Given the description of an element on the screen output the (x, y) to click on. 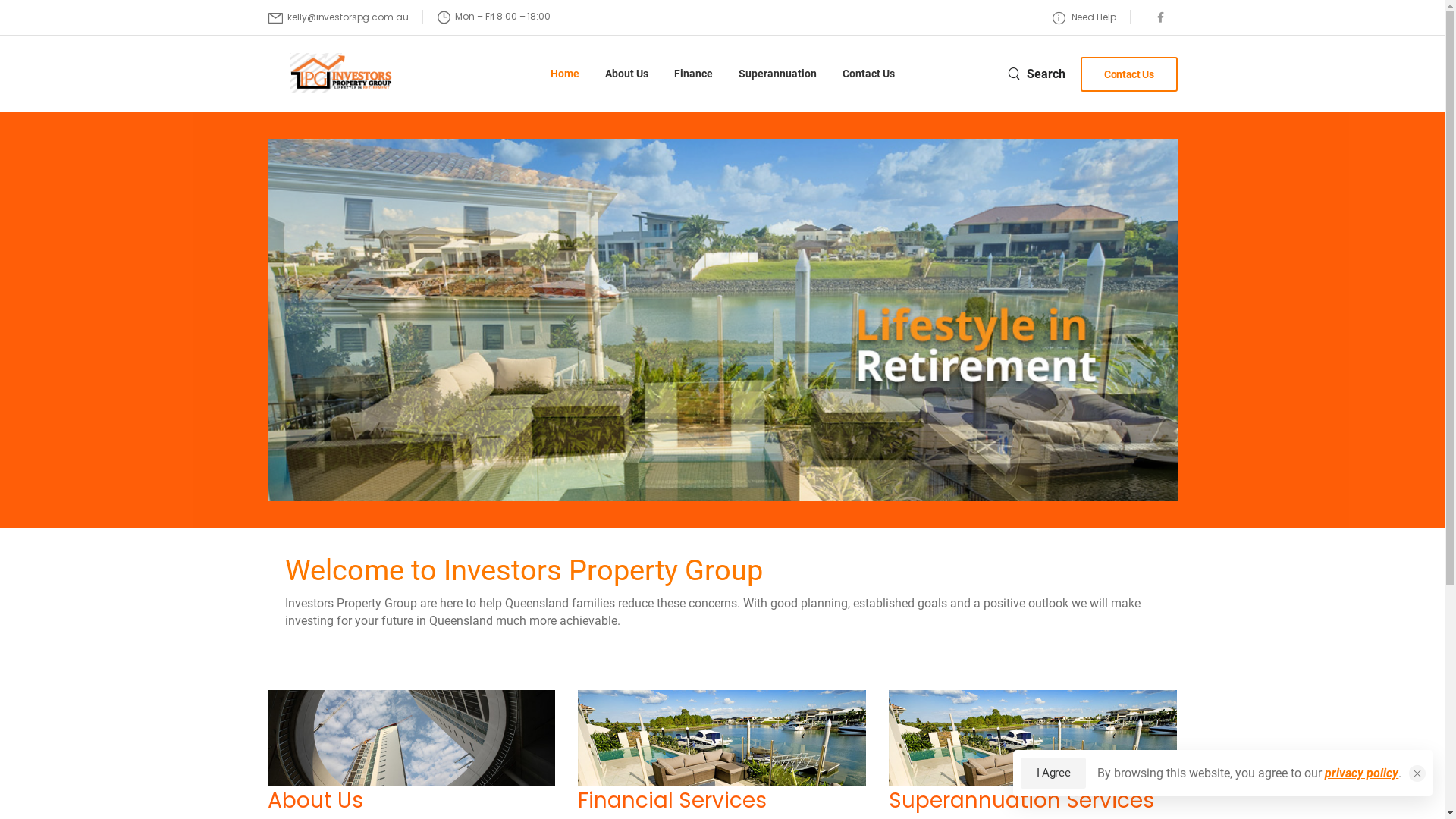
Financial Services Element type: text (671, 800)
Search Element type: text (1036, 73)
Contact Us Element type: text (1128, 73)
Need Help Element type: text (1084, 16)
kelly@investorspg.com.au Element type: text (338, 17)
About Us Element type: text (314, 800)
facebook Element type: hover (1160, 16)
I Agree Element type: text (1052, 772)
Superannuation Services Element type: text (1021, 800)
About Us Element type: text (626, 73)
privacy policy Element type: text (1361, 772)
Finance Element type: text (692, 73)
Home Element type: text (564, 73)
Superannuation Element type: text (777, 73)
Contact Us Element type: text (867, 73)
